Given the description of an element on the screen output the (x, y) to click on. 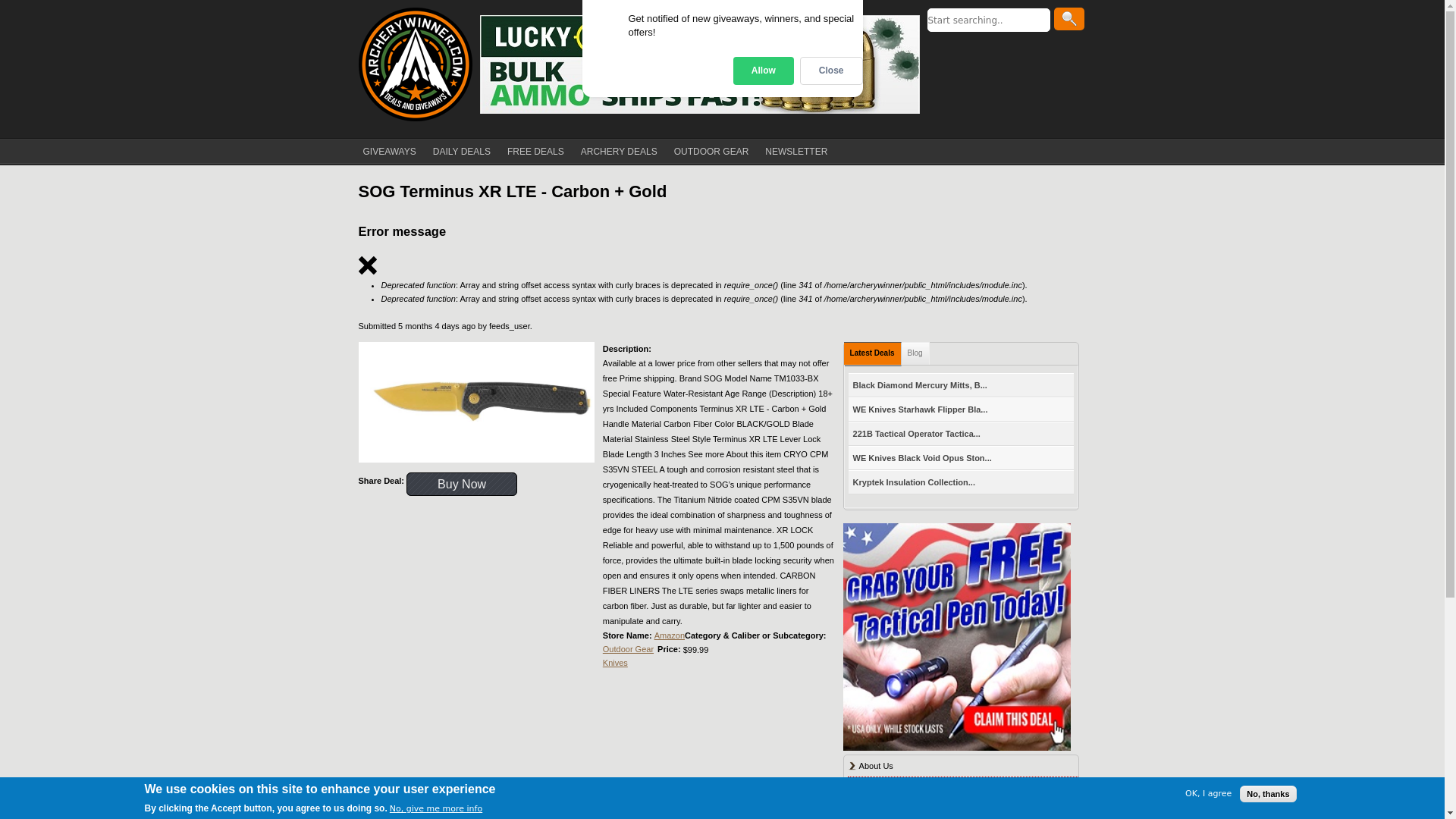
Amazon (668, 634)
Blog (915, 352)
About Us (876, 765)
Disclosure (878, 786)
Search (1069, 18)
WE Knives Black Void Opus Ston... (921, 457)
Black Diamond Mercury Mitts, B... (919, 384)
WE Knives Starhawk Flipper Bla... (920, 409)
ARCHERY DEALS (619, 151)
FAQ (867, 809)
Buy Now (461, 484)
Kryptek Insulation Collection... (913, 482)
NEWSLETTER (795, 151)
221B Tactical Operator Tactica... (916, 434)
FREE DEALS (535, 151)
